Given the description of an element on the screen output the (x, y) to click on. 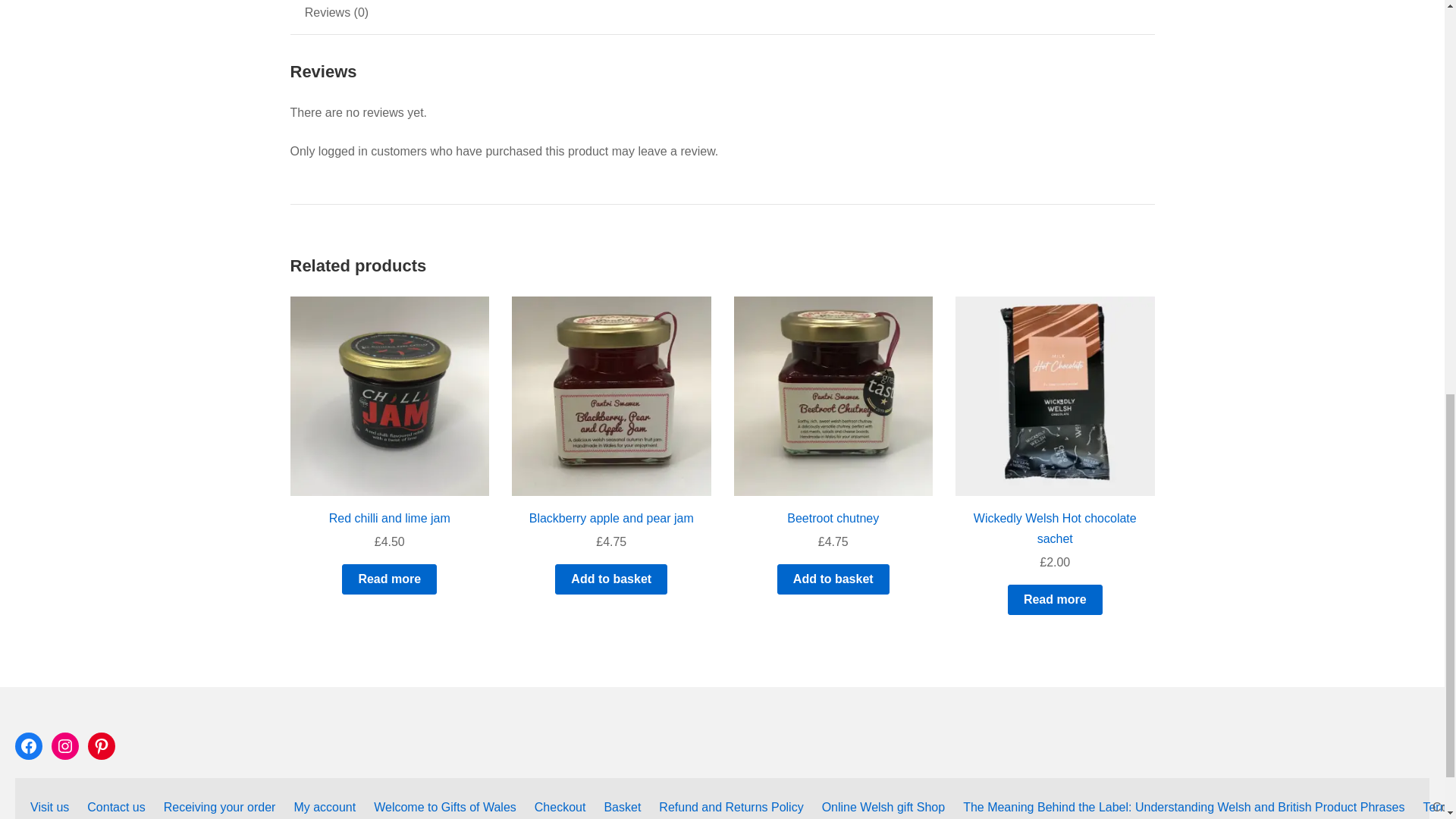
Beetroot chutney (833, 517)
Blackberry apple and pear jam (611, 517)
Red chilli and lime jam (389, 517)
Add to basket (610, 579)
Add to basket (833, 579)
Read more (389, 579)
